Given the description of an element on the screen output the (x, y) to click on. 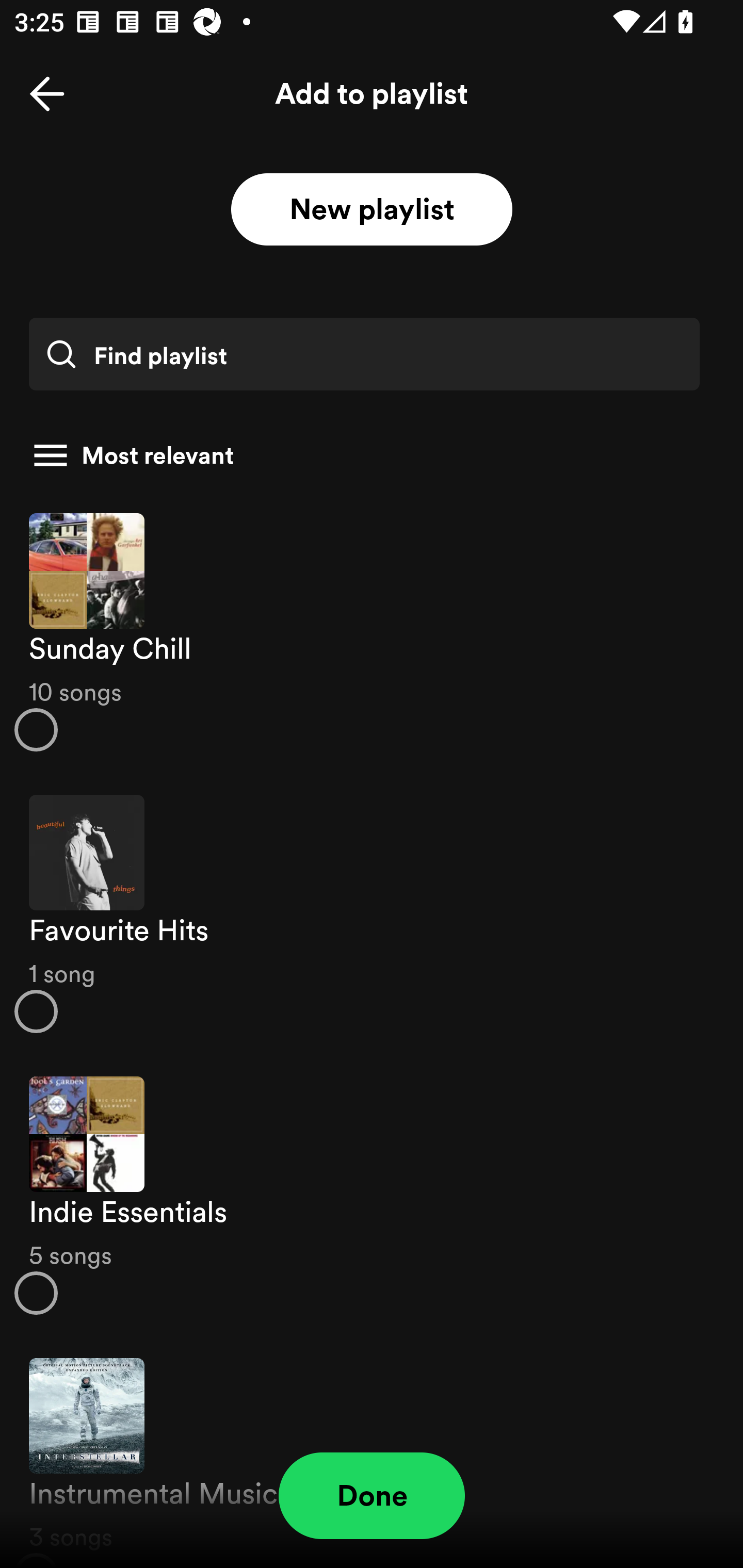
Back (46, 93)
New playlist (371, 210)
Find playlist (363, 354)
Most relevant (363, 455)
Sunday Chill 10 songs (371, 631)
Favourite Hits 1 song (371, 914)
Indie Essentials 5 songs (371, 1195)
Instrumental Music 3 songs (371, 1451)
Done (371, 1495)
